Given the description of an element on the screen output the (x, y) to click on. 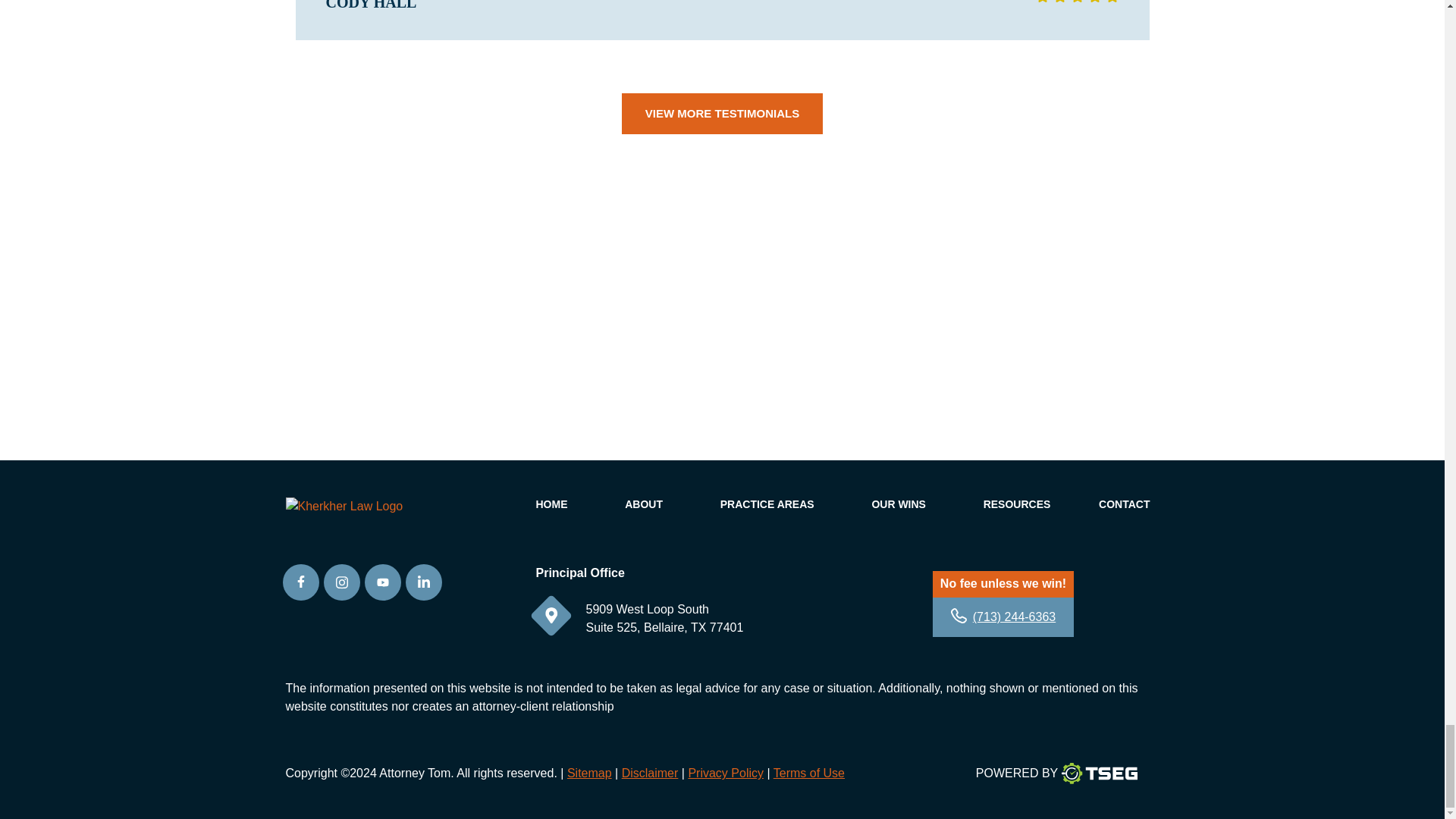
CONTACT (1124, 503)
Terms of Use (808, 772)
VIEW MORE TESTIMONIALS (721, 114)
Sitemap (589, 772)
Disclaimer (649, 772)
RESOURCES (1017, 503)
HOME (551, 503)
PRACTICE AREAS (766, 503)
Privacy Policy (724, 772)
OUR WINS (898, 503)
ABOUT (643, 503)
